Given the description of an element on the screen output the (x, y) to click on. 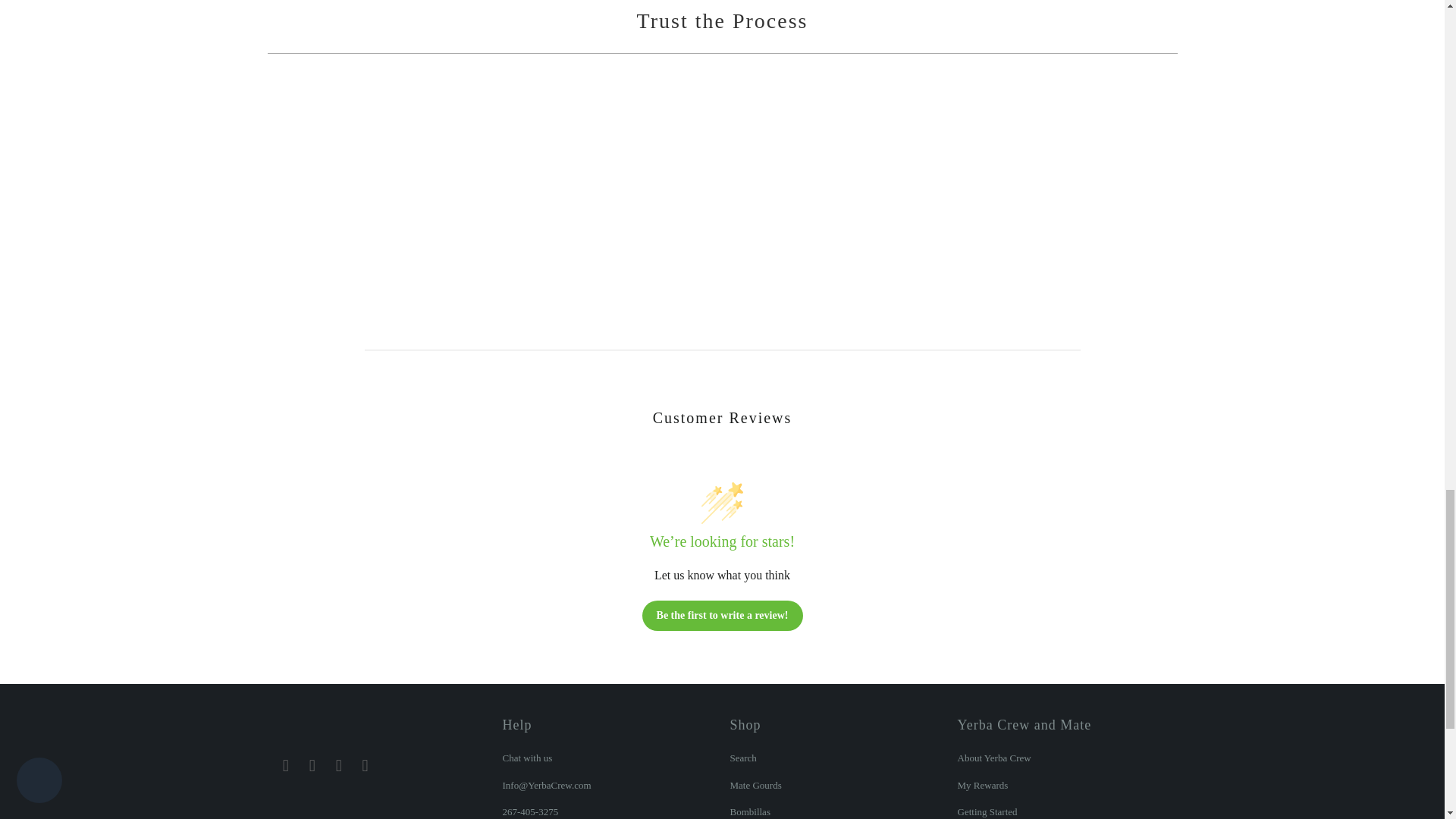
Email Yerba Crew (286, 765)
Yerba Crew on Instagram (338, 765)
Yerba Crew on Facebook (312, 765)
Yerba Crew on YouTube (365, 765)
